Given the description of an element on the screen output the (x, y) to click on. 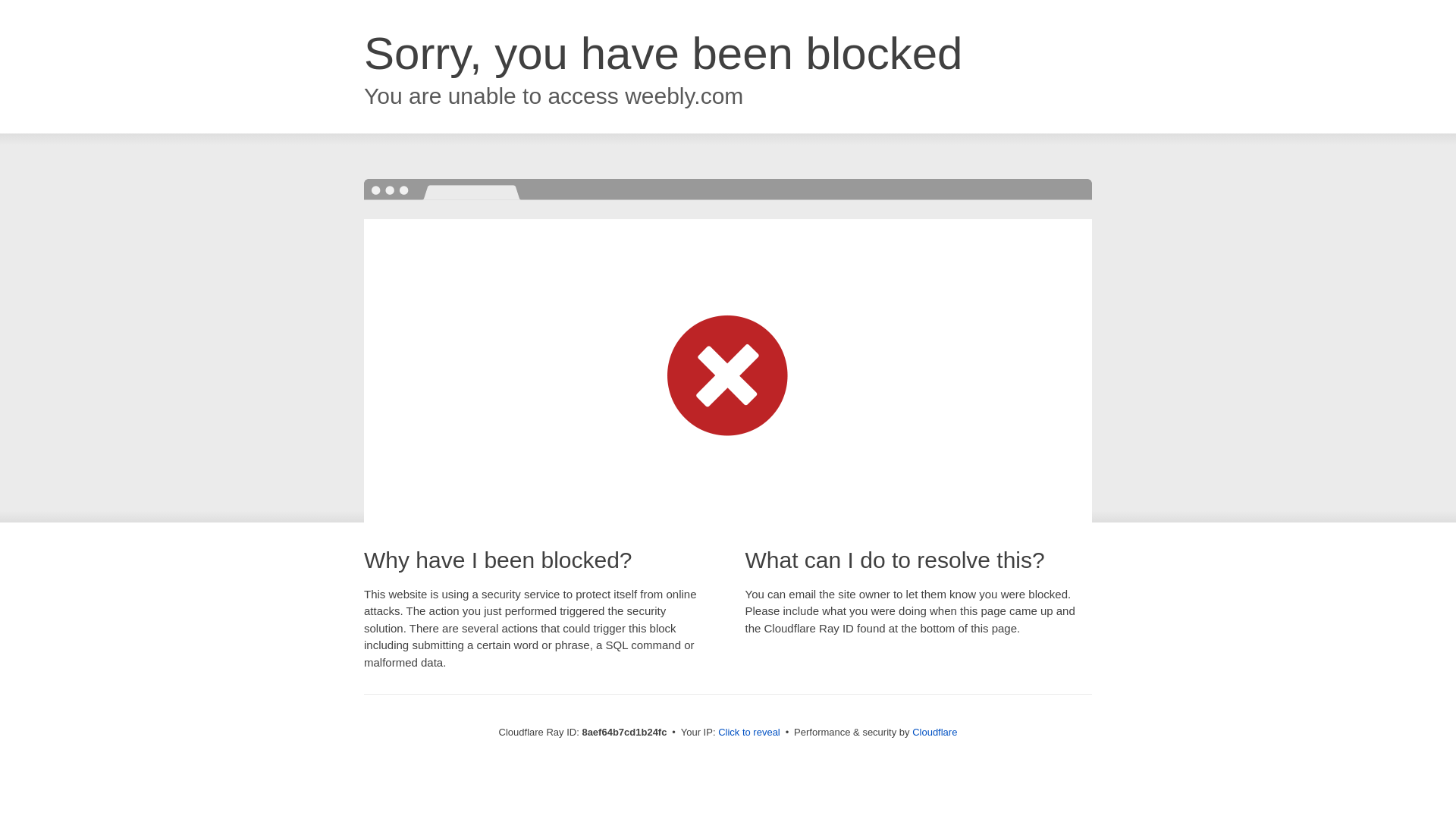
Click to reveal (748, 732)
Cloudflare (934, 731)
